Given the description of an element on the screen output the (x, y) to click on. 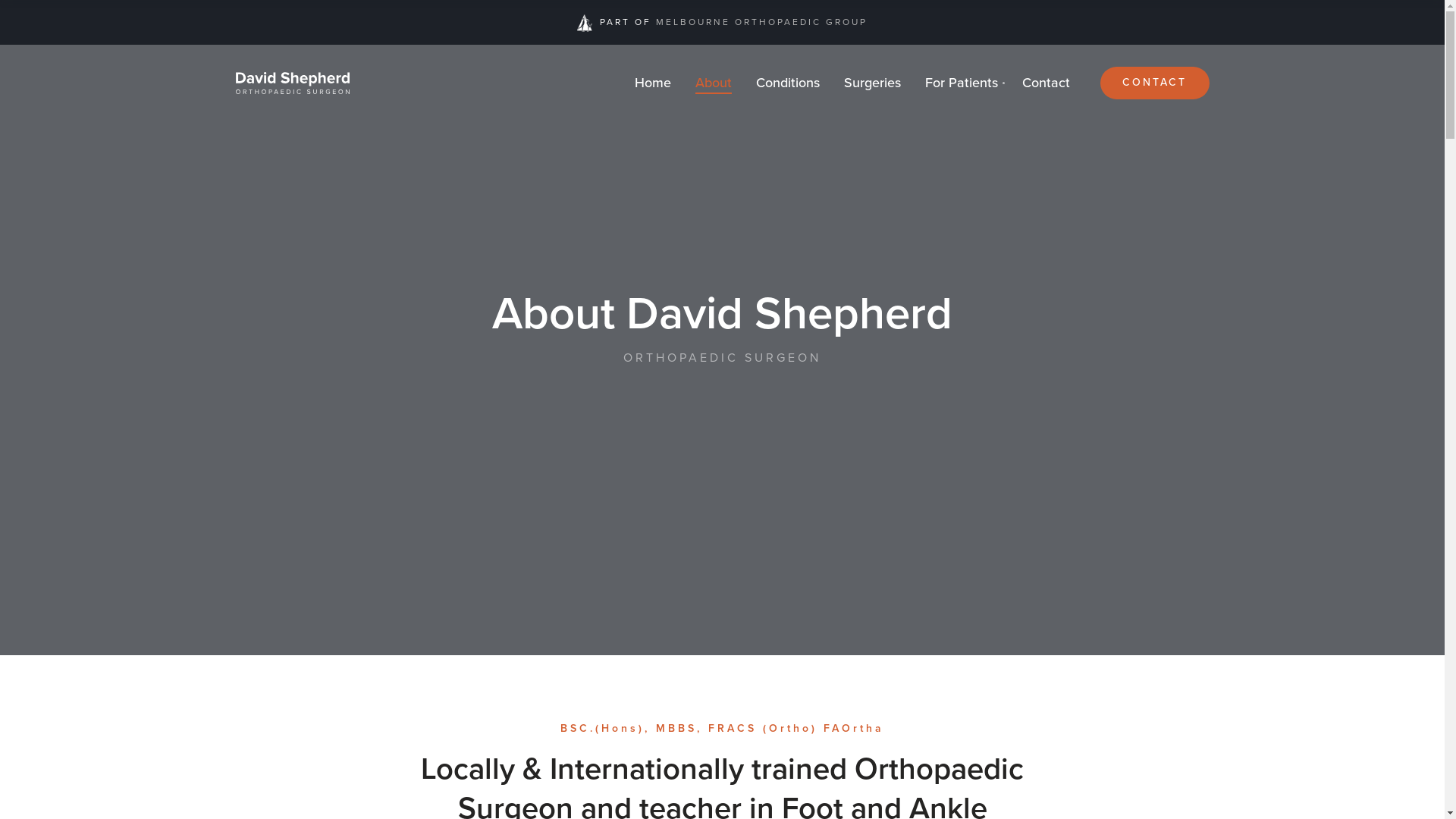
Contact Element type: text (1046, 82)
Home Element type: text (652, 82)
For Patients Element type: text (961, 82)
CONTACT Element type: text (1154, 82)
MELBOURNE ORTHOPAEDIC GROUP Element type: text (761, 21)
Surgeries Element type: text (872, 82)
Conditions Element type: text (787, 82)
About Element type: text (713, 82)
